Given the description of an element on the screen output the (x, y) to click on. 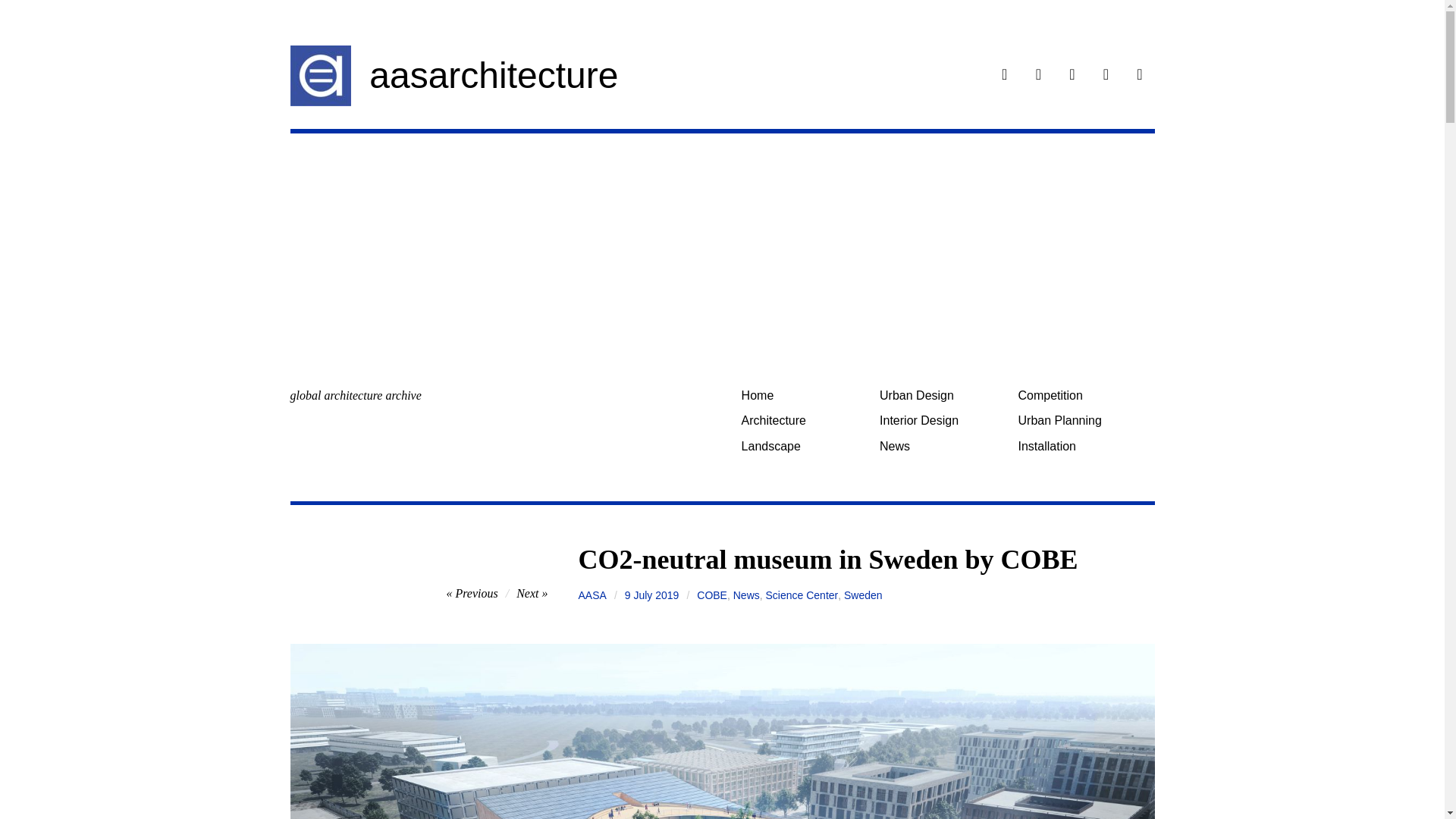
Fadebook (1003, 75)
Instagram (1038, 75)
Urban Design (942, 395)
Architecture (804, 420)
Home (804, 395)
Youtube (1138, 75)
News (942, 445)
Science Center (801, 595)
Interior Design (942, 420)
